Given the description of an element on the screen output the (x, y) to click on. 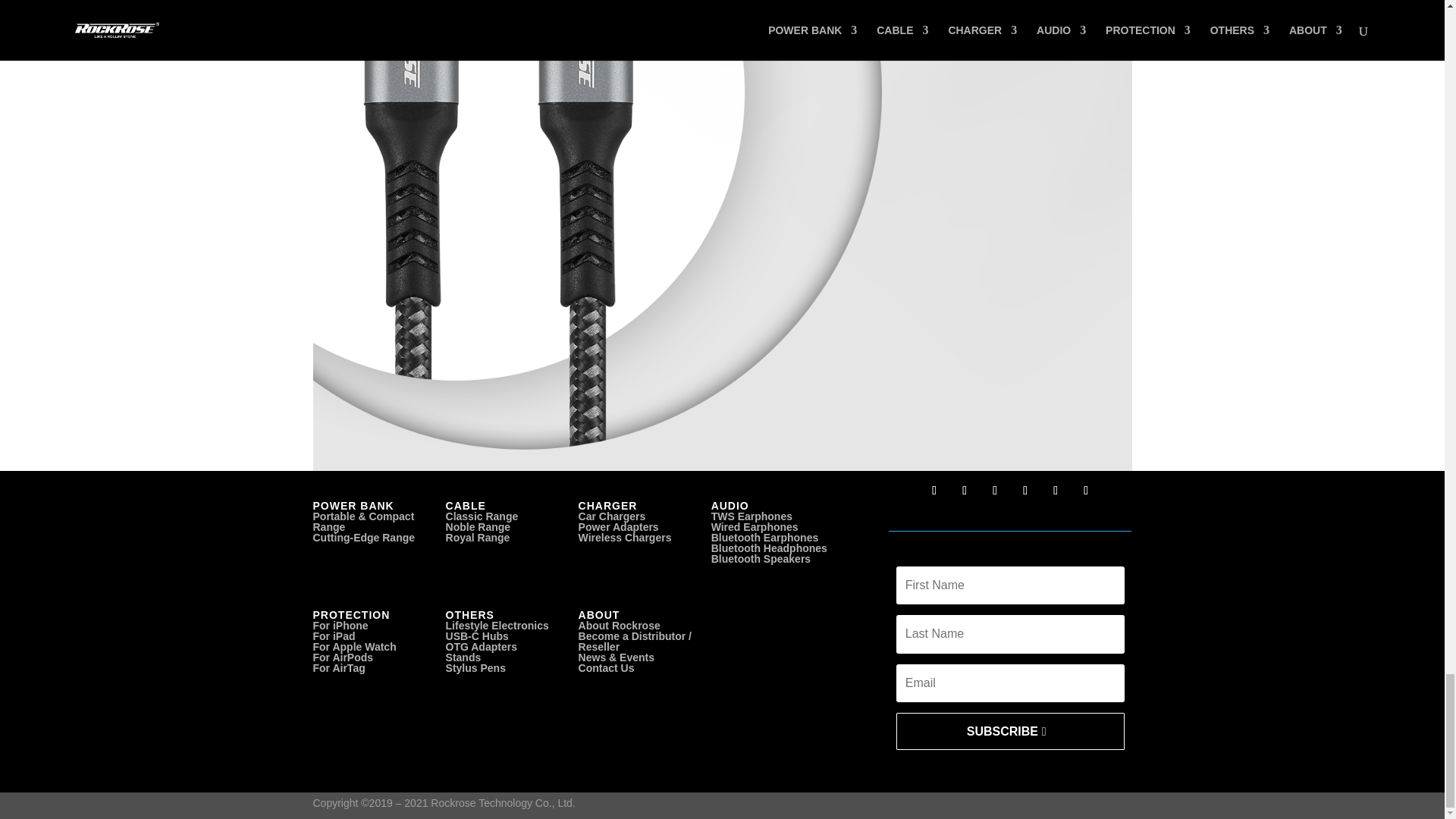
Follow on Facebook (933, 490)
Follow on Youtube (1085, 490)
Follow on tumblr (1055, 490)
Follow on Instagram (1024, 490)
Follow on LinkedIn (994, 490)
Follow on Twitter (964, 490)
